Given the description of an element on the screen output the (x, y) to click on. 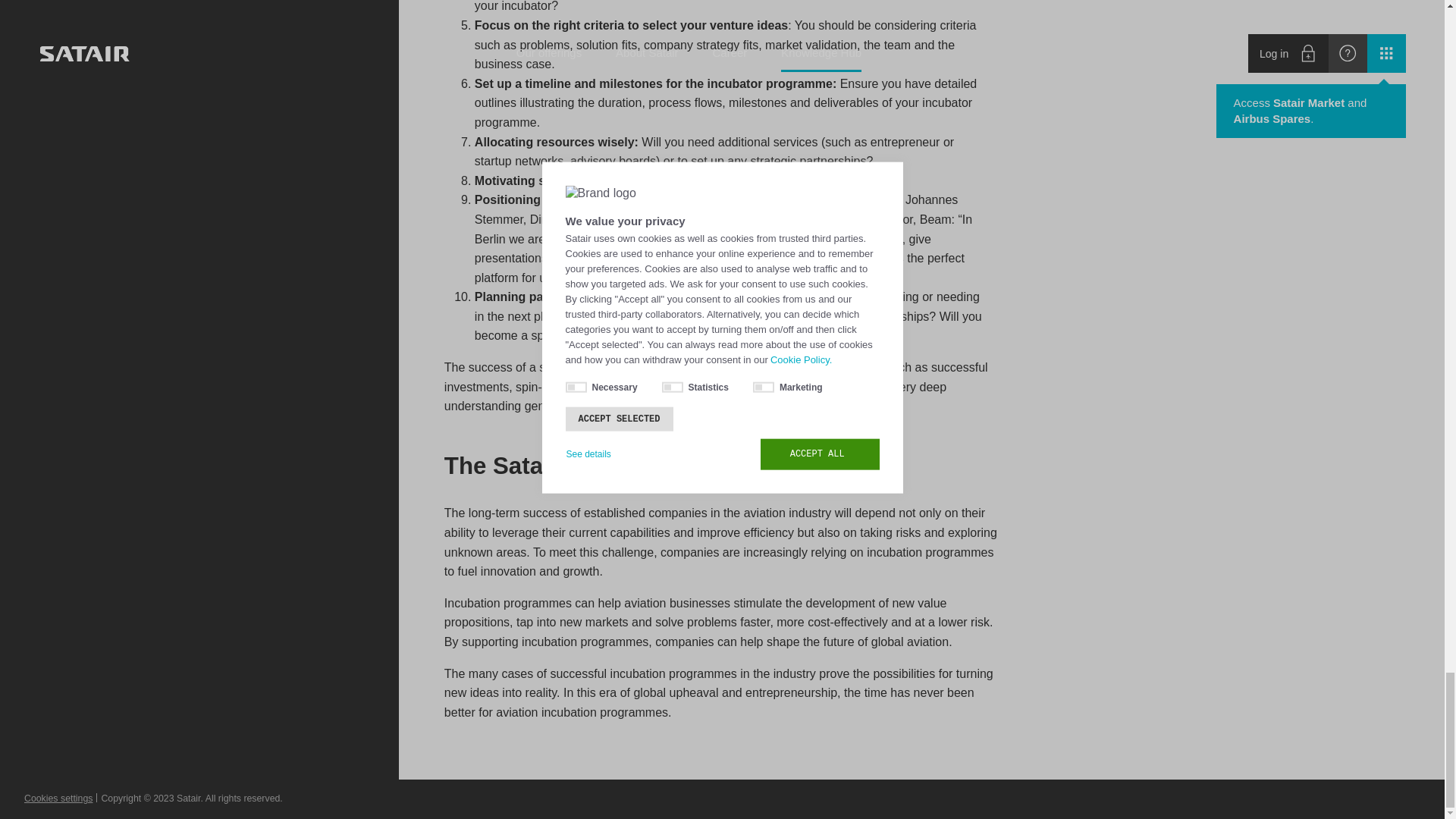
Cookies settings (58, 799)
measured by quantifiables (811, 367)
